Given the description of an element on the screen output the (x, y) to click on. 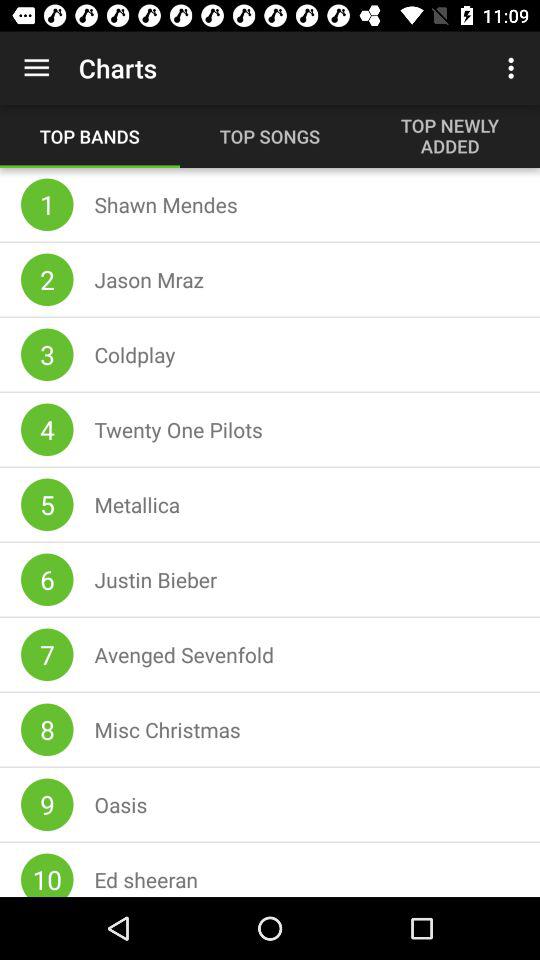
tap the item to the right of the 4 (178, 429)
